Given the description of an element on the screen output the (x, y) to click on. 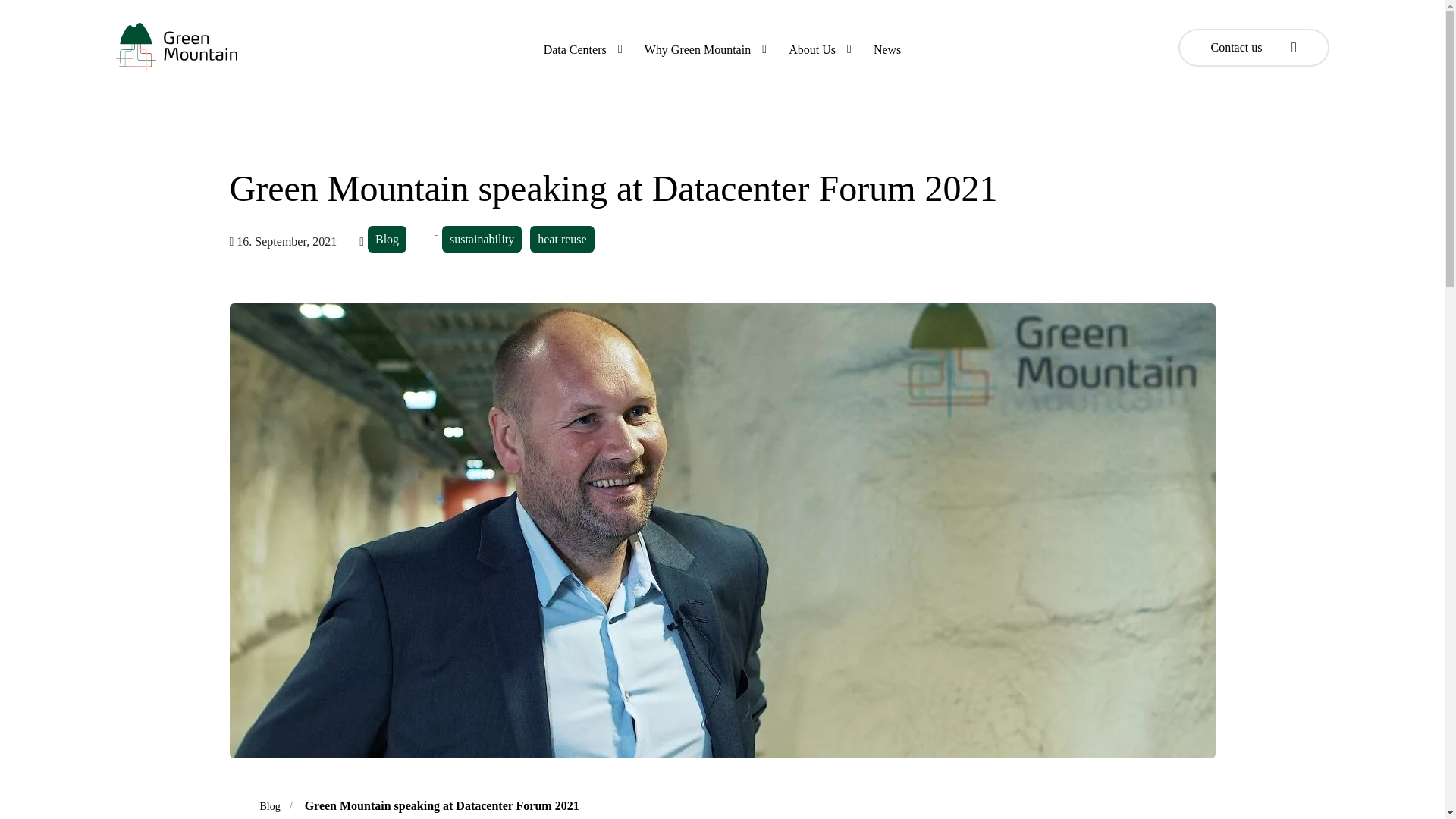
Data Centers (575, 48)
Why Green Mountain (698, 48)
